Given the description of an element on the screen output the (x, y) to click on. 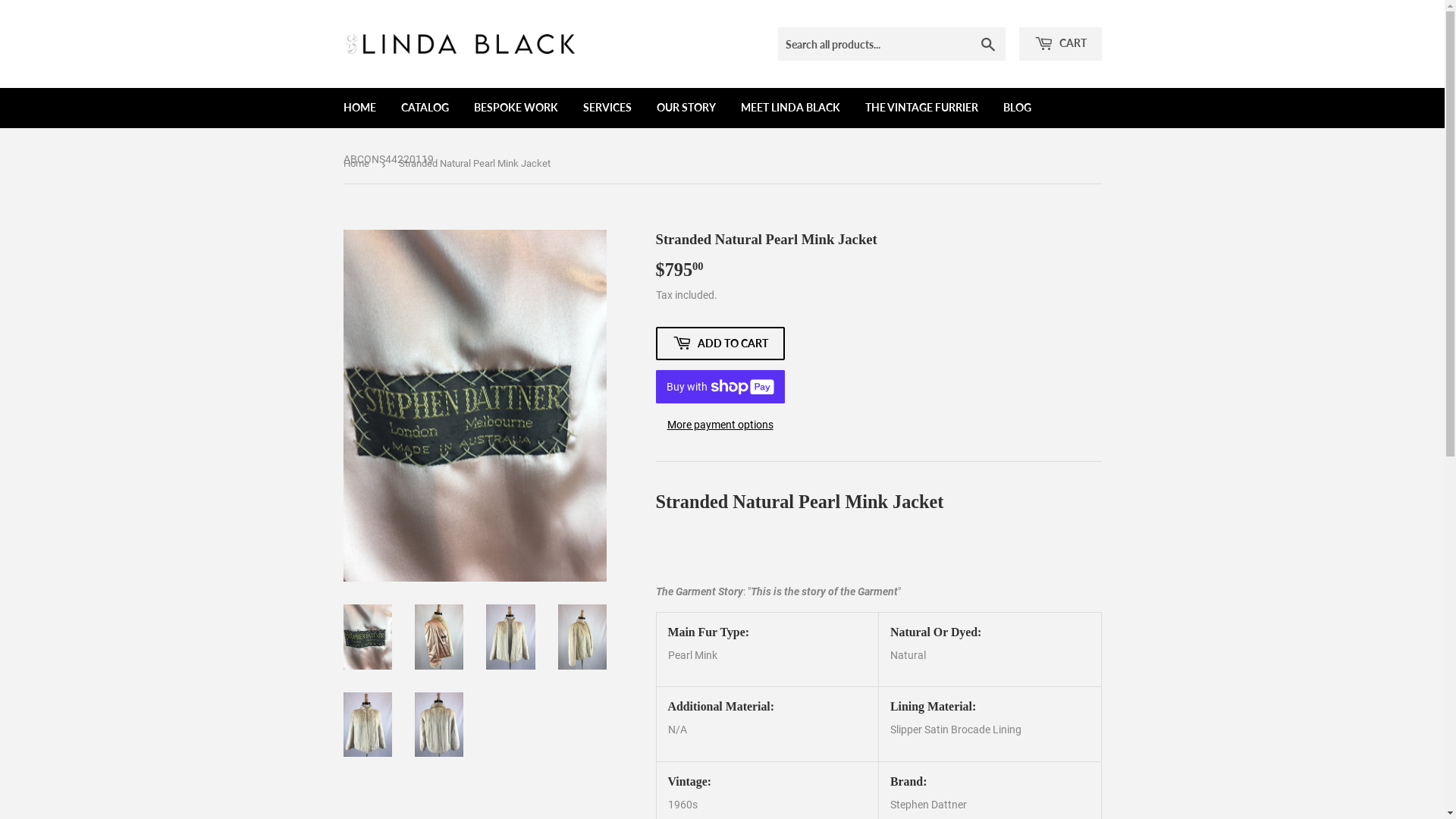
BESPOKE WORK Element type: text (515, 107)
SERVICES Element type: text (607, 107)
BLOG Element type: text (1016, 107)
ADD TO CART Element type: text (719, 343)
Search Element type: text (987, 44)
Home Element type: text (357, 163)
HOME Element type: text (359, 107)
OUR STORY Element type: text (685, 107)
CART Element type: text (1060, 43)
More payment options Element type: text (719, 424)
MEET LINDA BLACK Element type: text (790, 107)
CATALOG Element type: text (424, 107)
THE VINTAGE FURRIER Element type: text (921, 107)
